Given the description of an element on the screen output the (x, y) to click on. 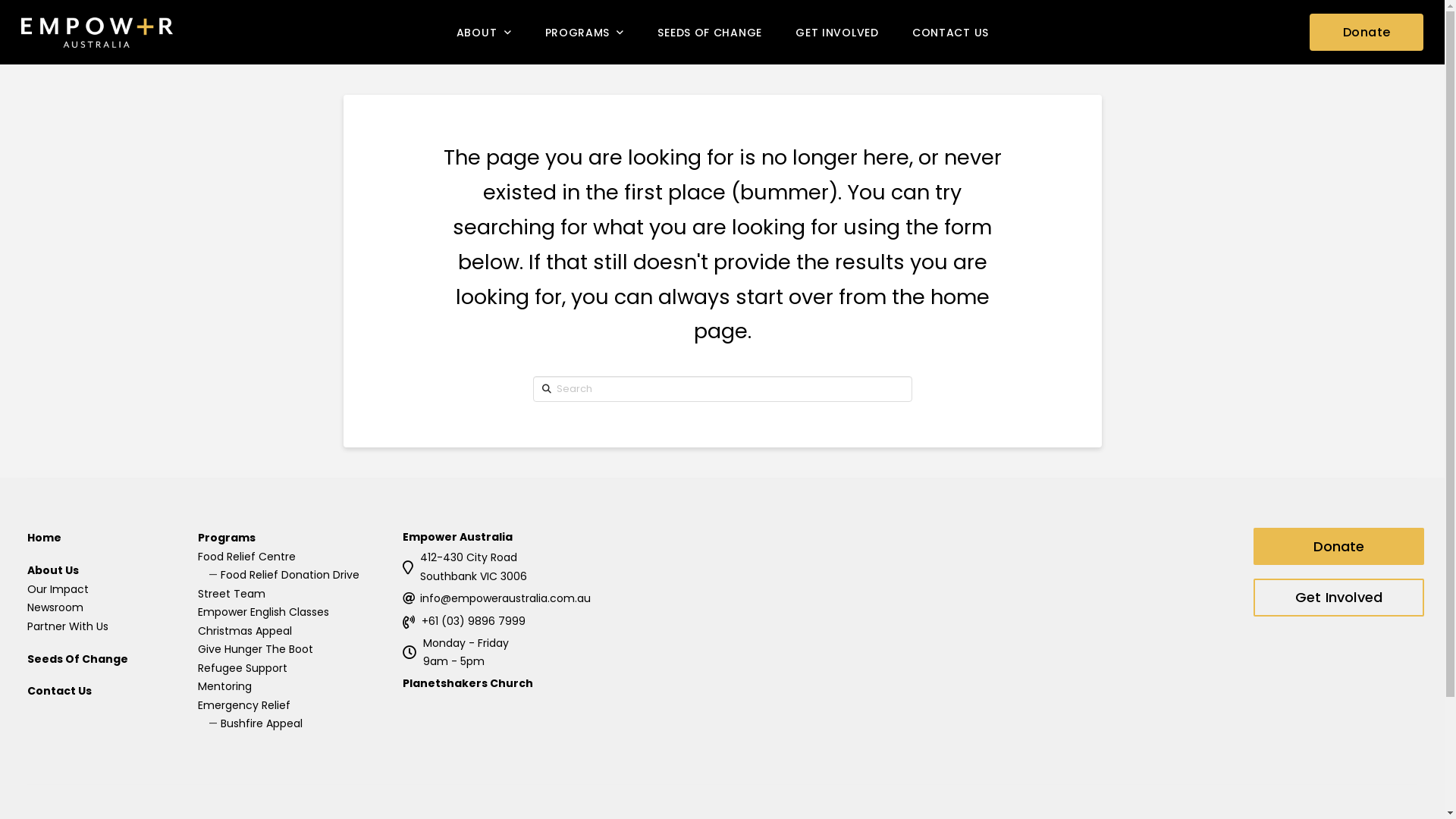
PROGRAMS Element type: text (583, 32)
Emergency Relief Element type: text (243, 704)
Partner With Us Element type: text (67, 625)
Get Involved Element type: text (1338, 597)
Seeds Of Change Element type: text (77, 658)
Mentoring Element type: text (224, 685)
info@empoweraustralia.com.au Element type: text (505, 597)
About Us Element type: text (52, 569)
Programs Element type: text (226, 537)
CONTACT US Element type: text (949, 32)
Donate Element type: text (1366, 31)
Home Element type: text (44, 537)
SEEDS OF CHANGE Element type: text (709, 32)
Food Relief Donation Drive Element type: text (289, 574)
Street Team Element type: text (231, 593)
Food Relief Centre Element type: text (246, 556)
Contact Us Element type: text (59, 690)
Christmas Appeal Element type: text (244, 630)
Our Impact Element type: text (57, 588)
Donate Element type: text (1338, 546)
Planetshakers Church Element type: text (467, 682)
Bushfire Appeal Element type: text (261, 723)
Give Hunger The Boot Element type: text (255, 648)
Refugee Support Element type: text (242, 667)
Empower English Classes Element type: text (263, 611)
ABOUT Element type: text (483, 32)
GET INVOLVED Element type: text (836, 32)
Newsroom Element type: text (55, 607)
